Given the description of an element on the screen output the (x, y) to click on. 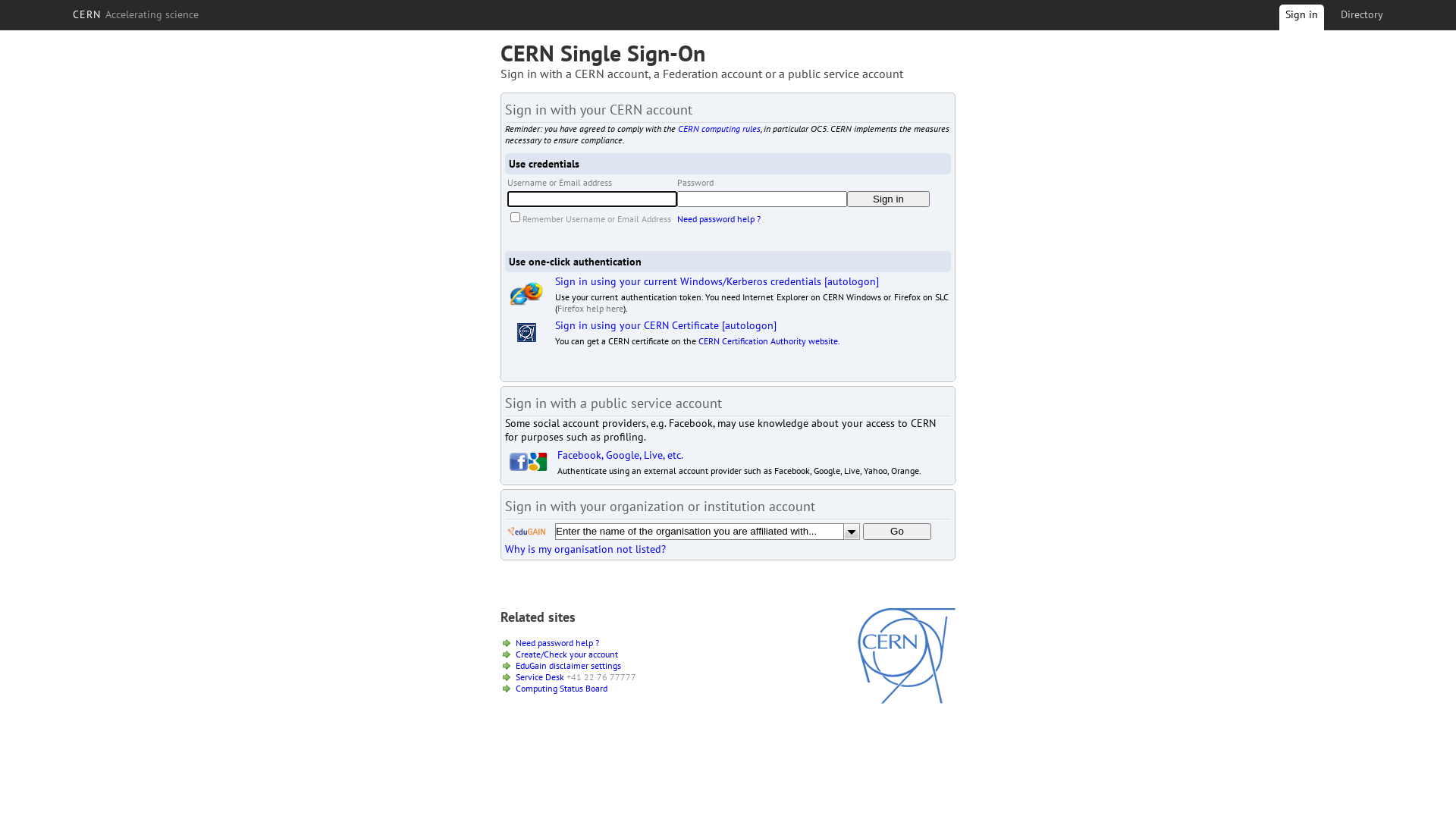
Need password help ? Element type: text (557, 642)
Sign in Element type: text (888, 199)
CERN computing rules Element type: text (718, 128)
Sign in Element type: text (1301, 19)
Sign in using your current Windows/Kerberos credentials Element type: text (688, 281)
CERN Accelerating science Element type: text (135, 14)
Computing Status Board Element type: text (561, 687)
CERN Element type: hover (906, 699)
EduGain disclaimer settings Element type: text (568, 665)
[autologon] Element type: text (851, 281)
CERN Certification Authority website Element type: text (767, 340)
Create/Check your account Element type: text (566, 653)
Facebook, Google, Live, etc. Element type: text (620, 454)
Sign in using your CERN Certificate Element type: text (636, 325)
Service Desk Element type: text (539, 676)
Why is my organisation not listed? Element type: text (585, 548)
Go Element type: text (896, 531)
Firefox help here Element type: text (590, 307)
CERN Single Sign-On Element type: text (602, 52)
Need password help ? Element type: text (718, 218)
[autologon] Element type: text (748, 325)
[show debug information] Element type: text (549, 565)
Directory Element type: text (1361, 14)
Enter your Username or Email Address Element type: hover (592, 199)
